Given the description of an element on the screen output the (x, y) to click on. 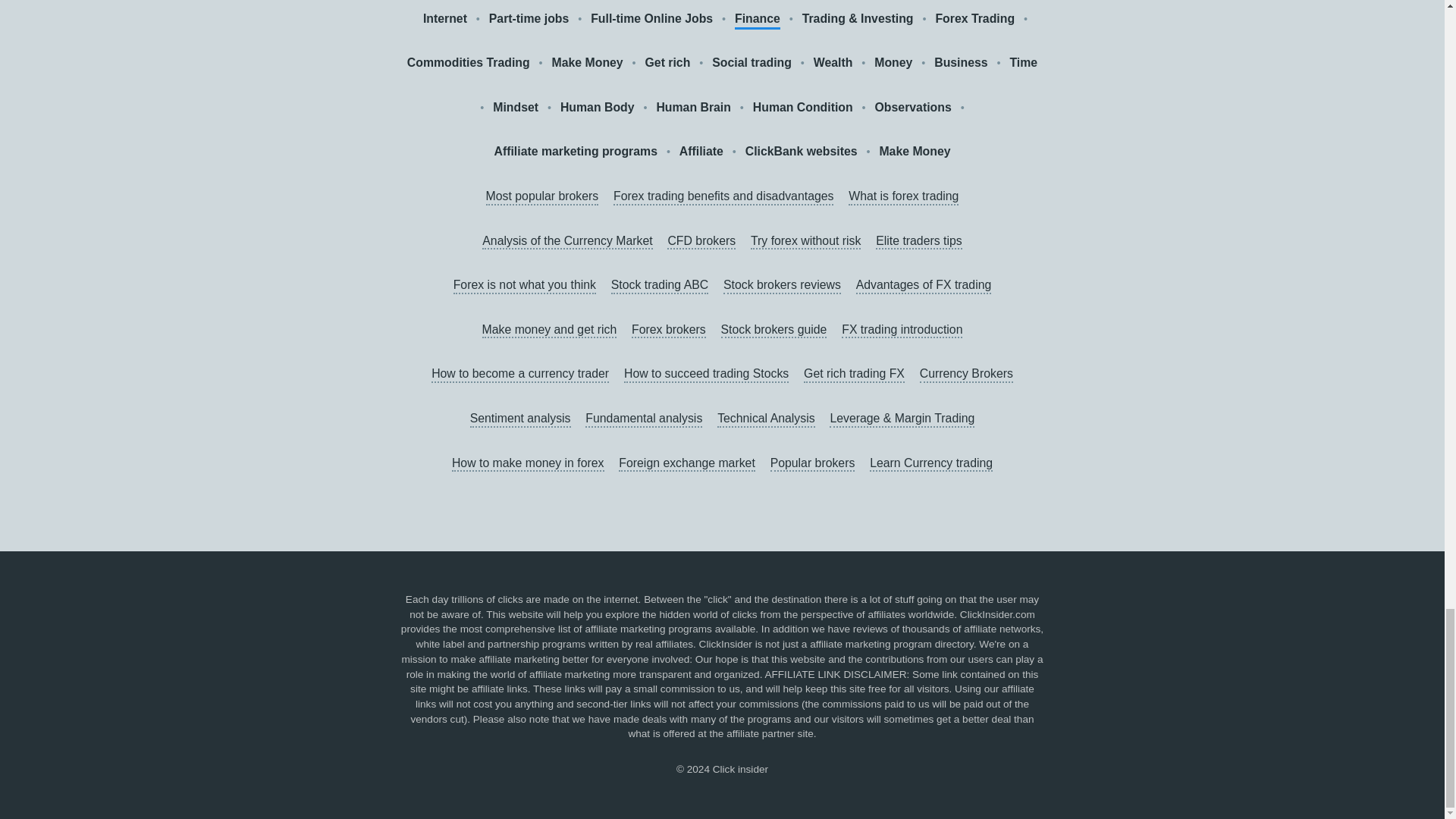
Business (960, 63)
Social trading (751, 63)
Make Money (587, 63)
Money (893, 63)
Get rich (667, 63)
Wealth (833, 63)
Time (1022, 63)
Full-time Online Jobs (652, 18)
Part-time jobs (529, 18)
Finance (757, 19)
